Given the description of an element on the screen output the (x, y) to click on. 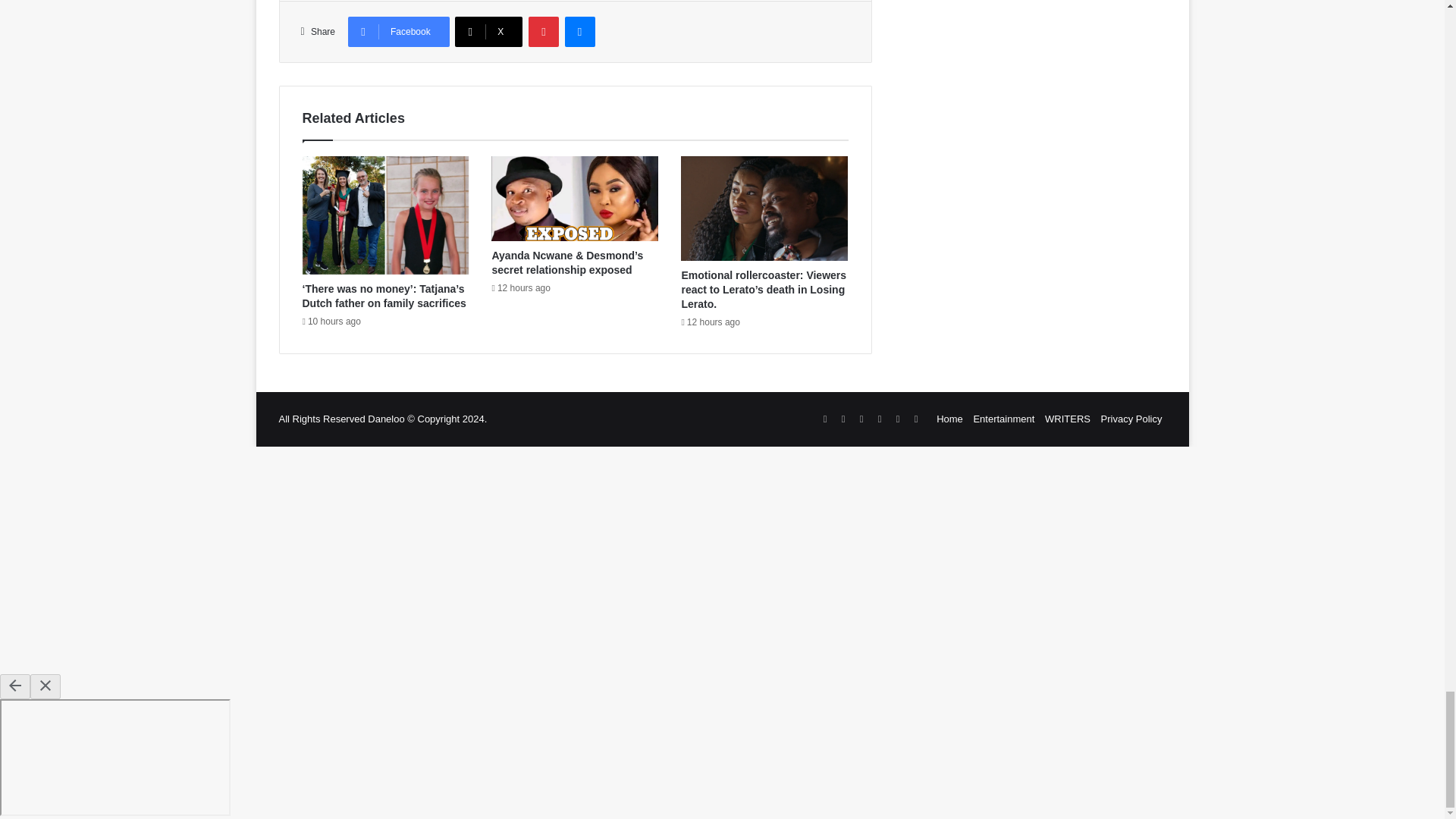
Facebook (398, 31)
Pinterest (543, 31)
X (488, 31)
Pinterest (543, 31)
X (488, 31)
Messenger (579, 31)
Facebook (398, 31)
